Given the description of an element on the screen output the (x, y) to click on. 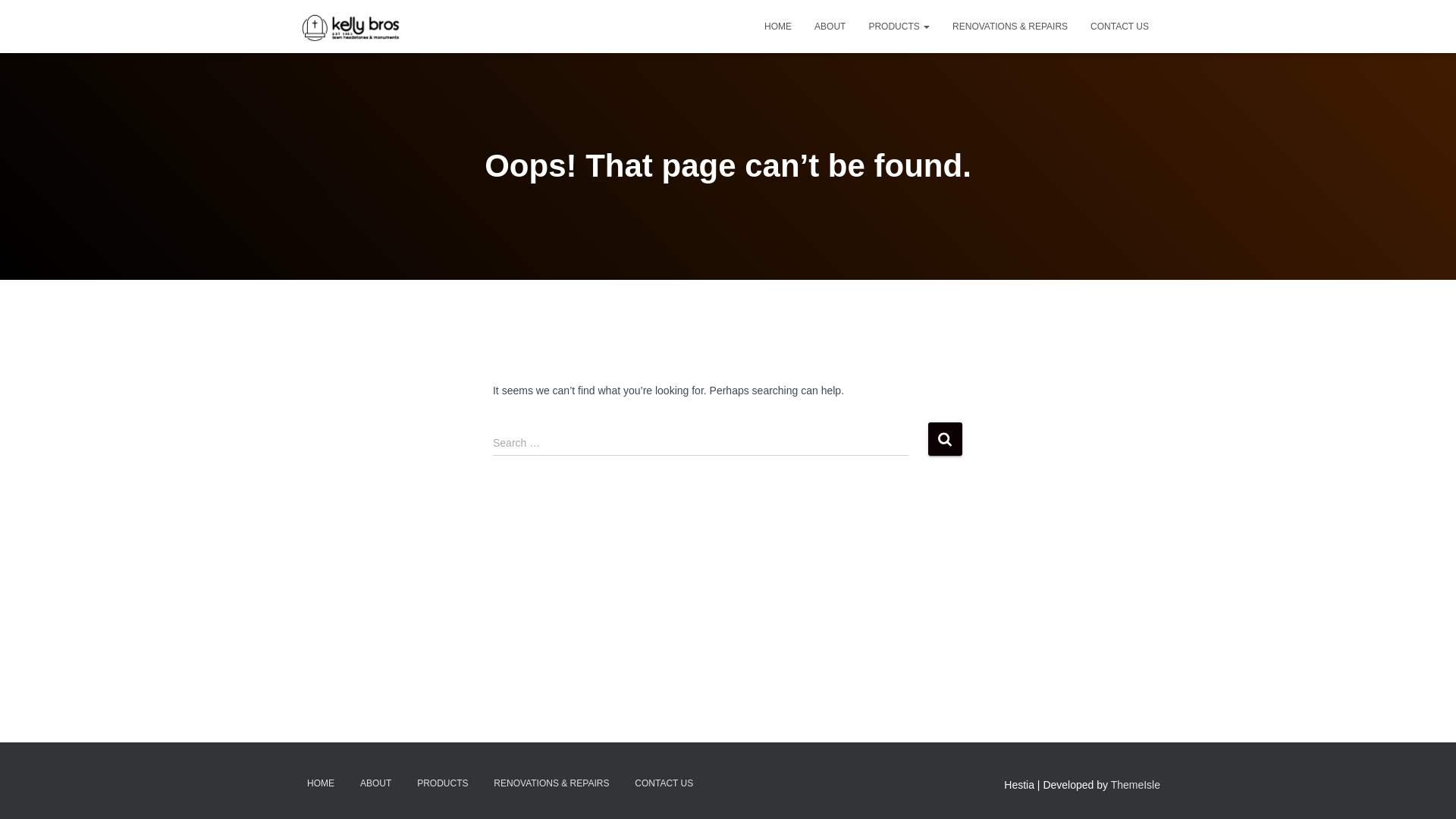
Search Element type: text (945, 438)
PRODUCTS Element type: text (898, 26)
RENOVATIONS & REPAIRS Element type: text (551, 783)
HOME Element type: text (778, 26)
CONTACT US Element type: text (1119, 26)
ABOUT Element type: text (829, 26)
RENOVATIONS & REPAIRS Element type: text (1010, 26)
Kelly Brothers Monumental Masons Element type: hover (351, 26)
HOME Element type: text (320, 783)
PRODUCTS Element type: text (442, 783)
CONTACT US Element type: text (663, 783)
ThemeIsle Element type: text (1135, 784)
ABOUT Element type: text (375, 783)
